Given the description of an element on the screen output the (x, y) to click on. 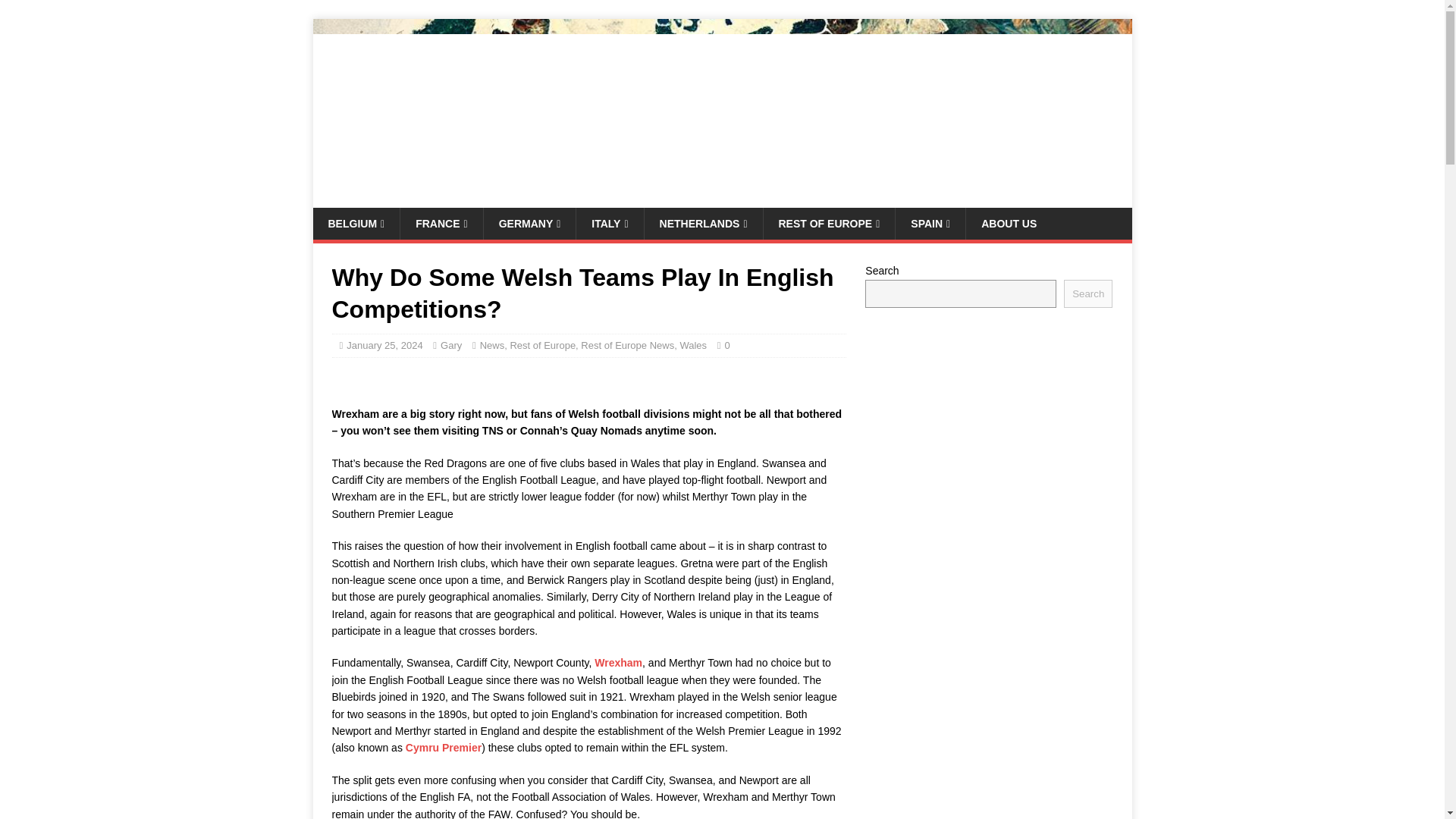
NETHERLANDS (702, 223)
BELGIUM (355, 223)
ABOUT US (1008, 223)
Gary (451, 345)
SPAIN (930, 223)
GERMANY (529, 223)
REST OF EUROPE (828, 223)
ITALY (609, 223)
FRANCE (439, 223)
Euro Football News (722, 199)
